Given the description of an element on the screen output the (x, y) to click on. 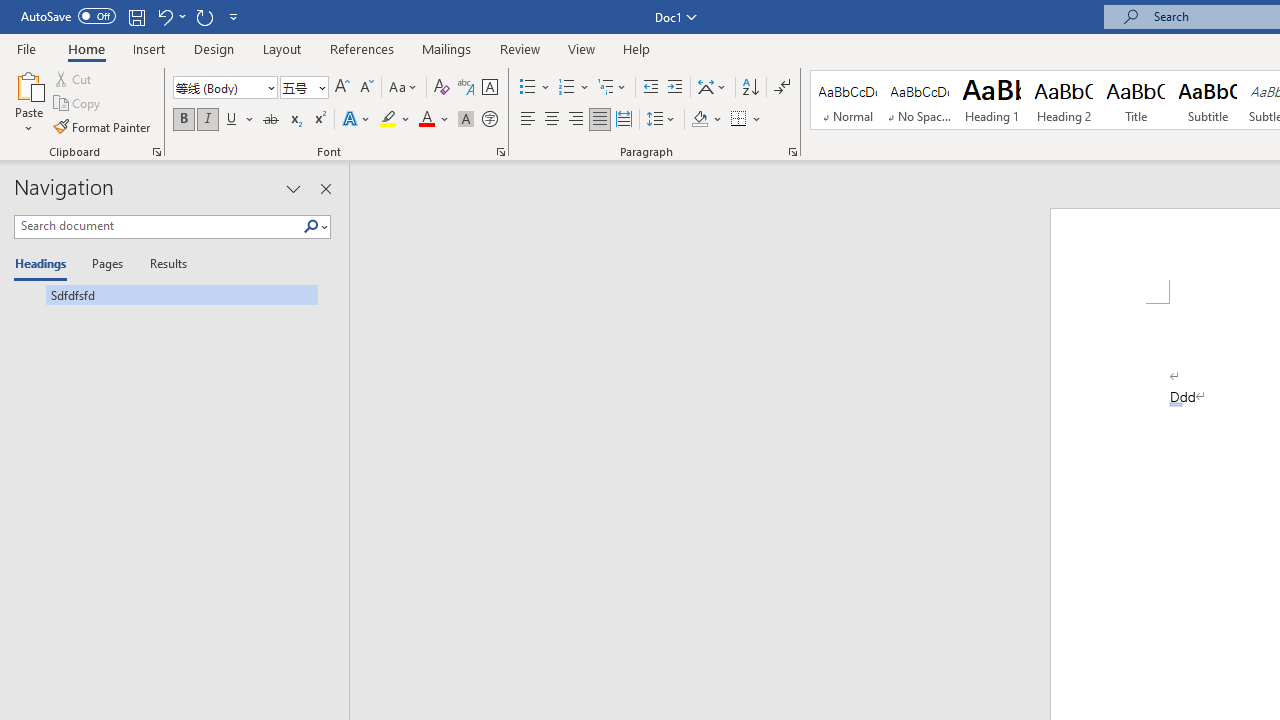
Open (320, 87)
